Given the description of an element on the screen output the (x, y) to click on. 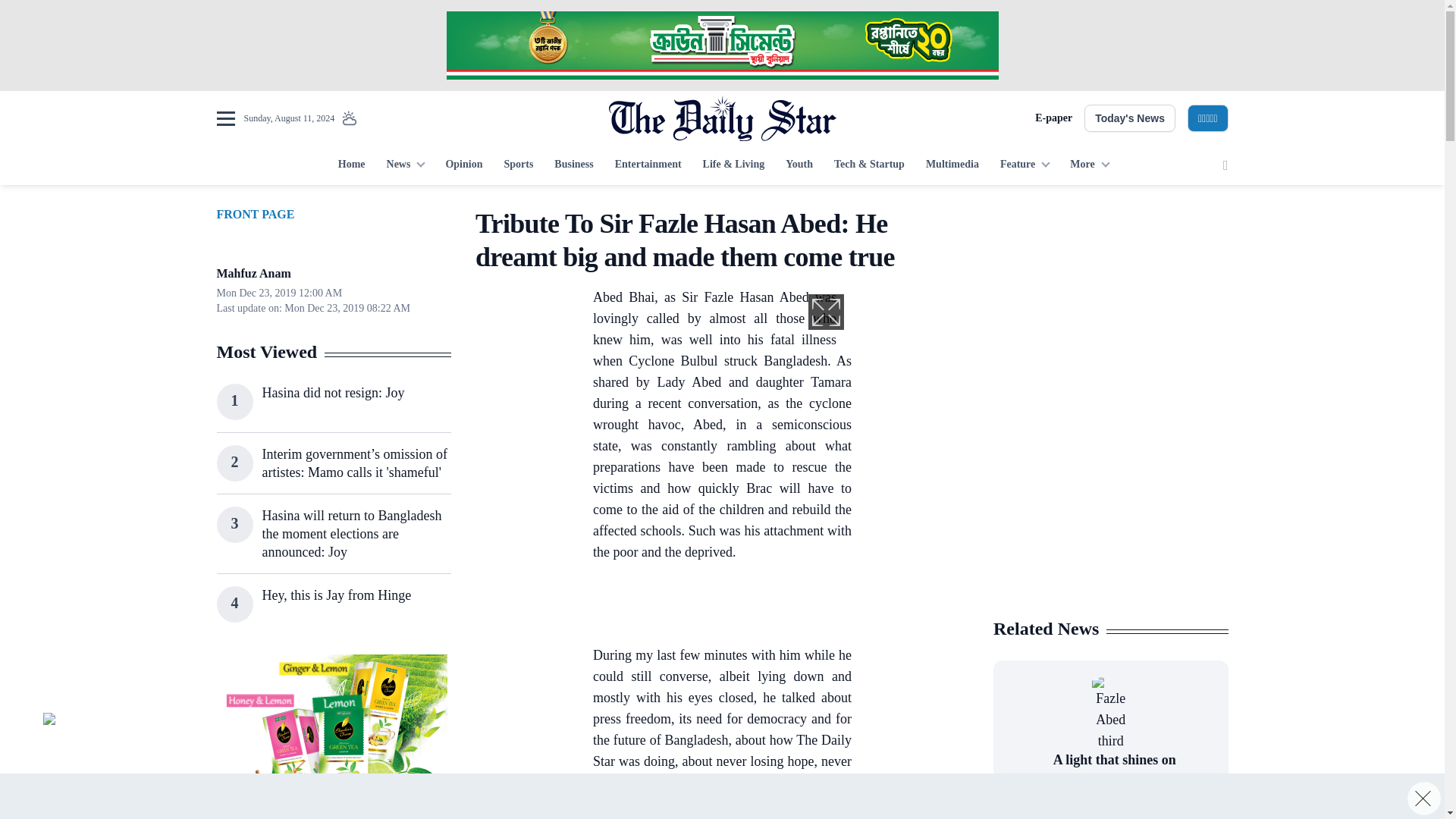
Entertainment (647, 165)
News (405, 165)
3rd party ad content (721, 45)
Today's News (1129, 117)
Feature (1024, 165)
3rd party ad content (769, 606)
Home (351, 165)
E-paper (1053, 117)
Business (573, 165)
